Given the description of an element on the screen output the (x, y) to click on. 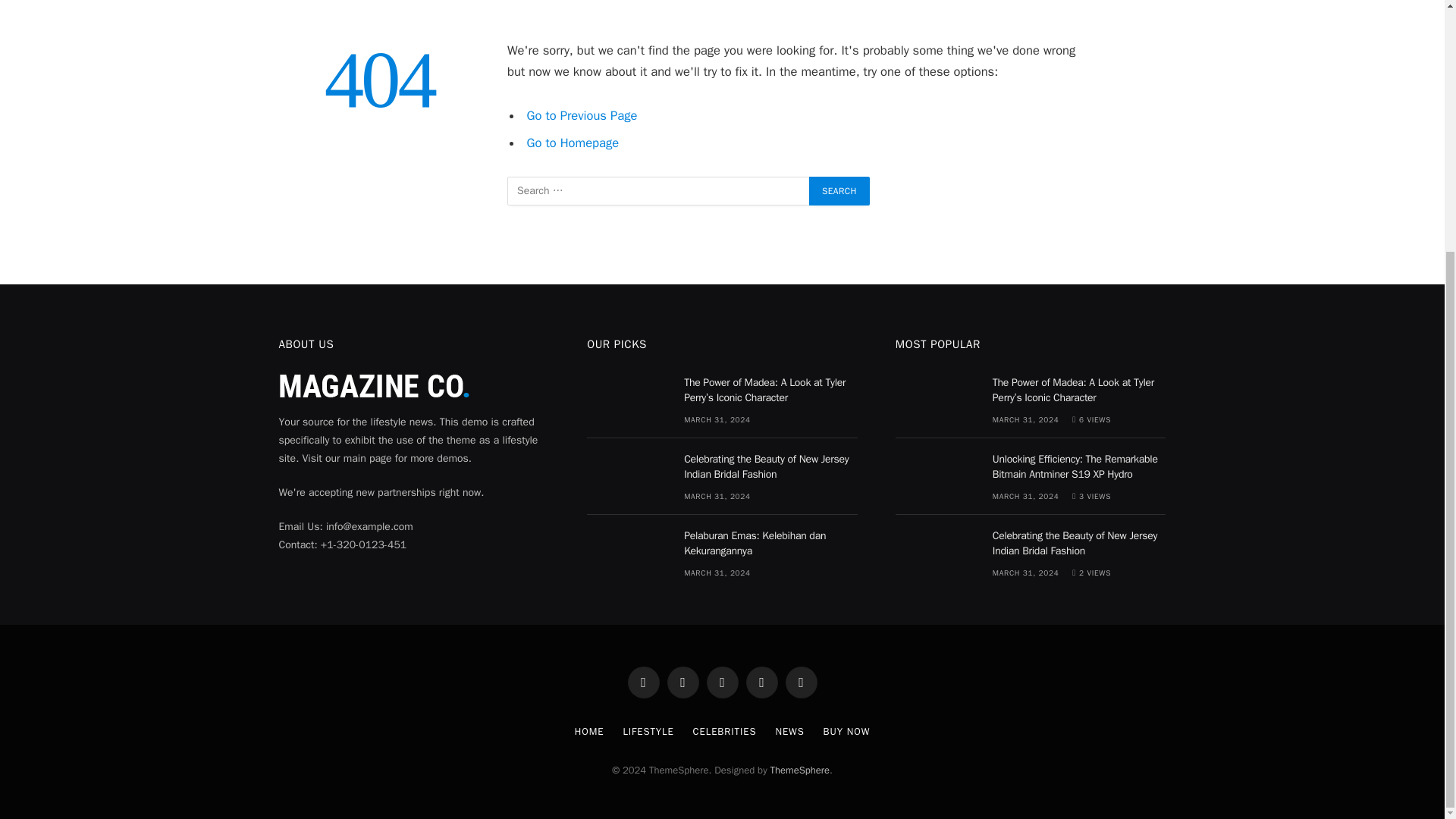
Search (839, 190)
6 Article Views (1090, 419)
3 Article Views (1090, 496)
Search (839, 190)
2 Article Views (1090, 573)
